Given the description of an element on the screen output the (x, y) to click on. 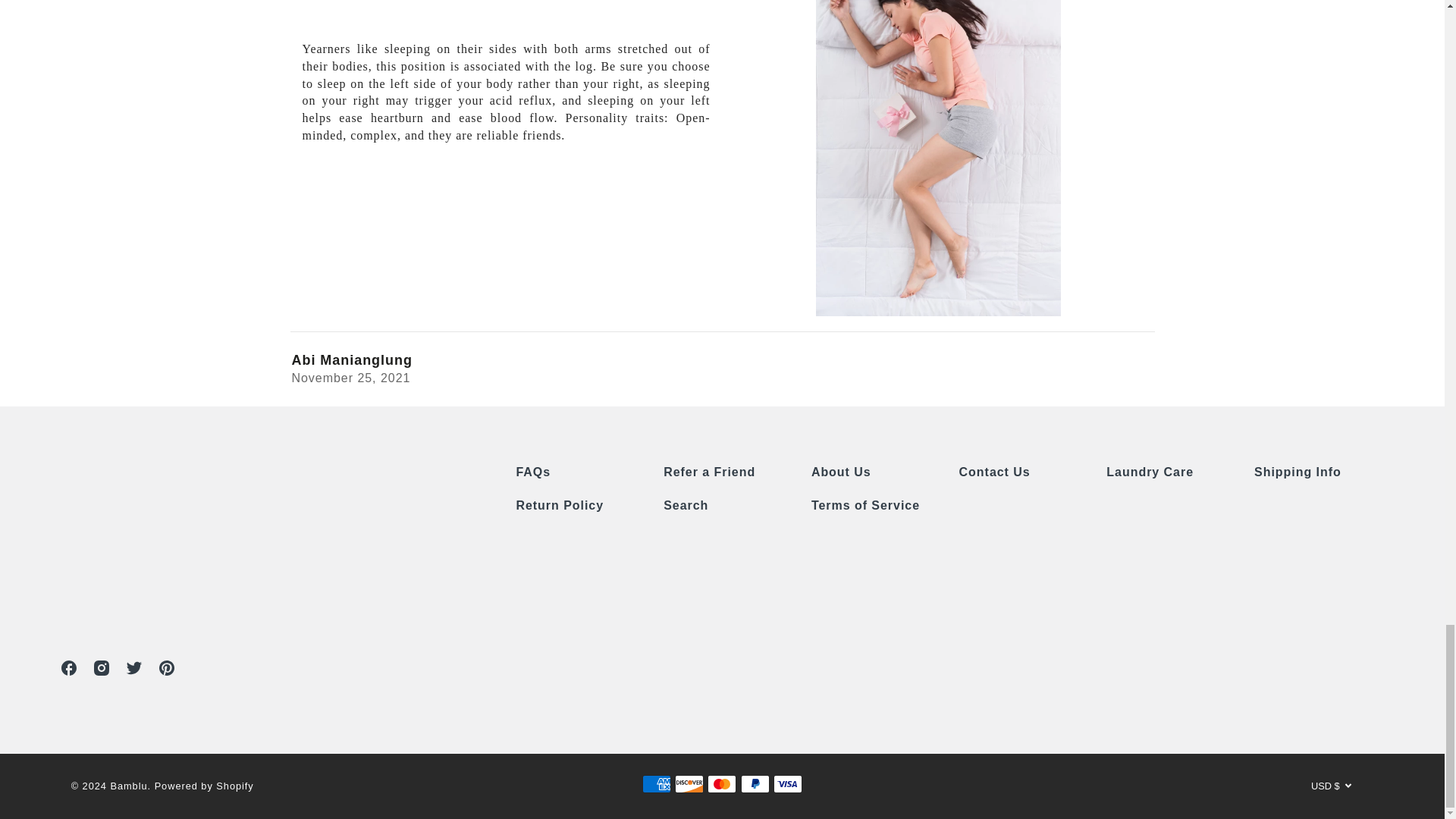
Mastercard (721, 783)
PayPal (755, 783)
Discover (689, 783)
American Express (656, 783)
Visa (787, 783)
